Given the description of an element on the screen output the (x, y) to click on. 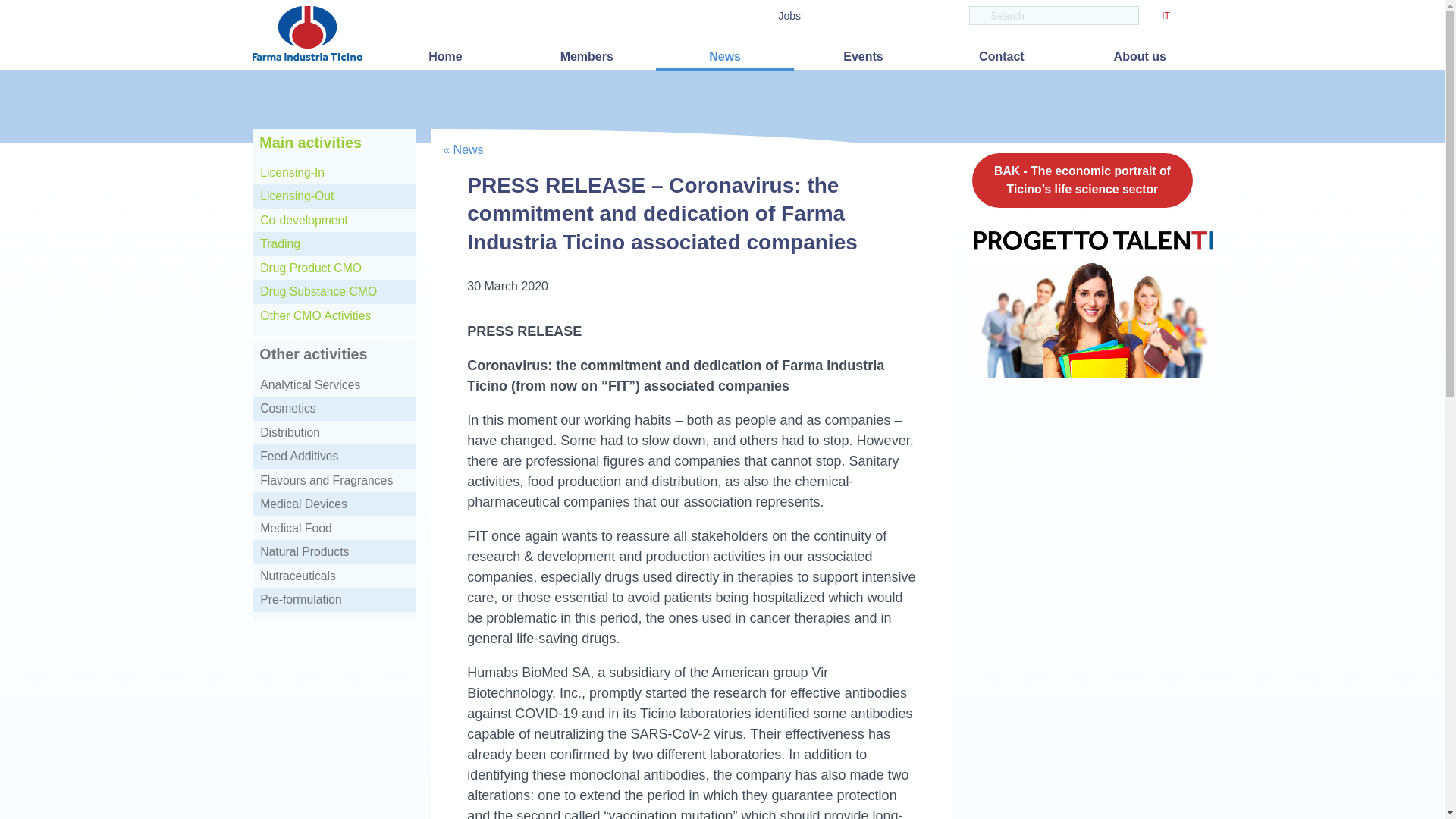
Drug Product CMO (332, 268)
Feed Additives (332, 456)
Drug Substance CMO (332, 291)
IT (1165, 18)
Members (587, 56)
Medical Food (332, 528)
Cosmetics (332, 408)
Jobs (788, 16)
News (724, 58)
Other activities (312, 356)
